Given the description of an element on the screen output the (x, y) to click on. 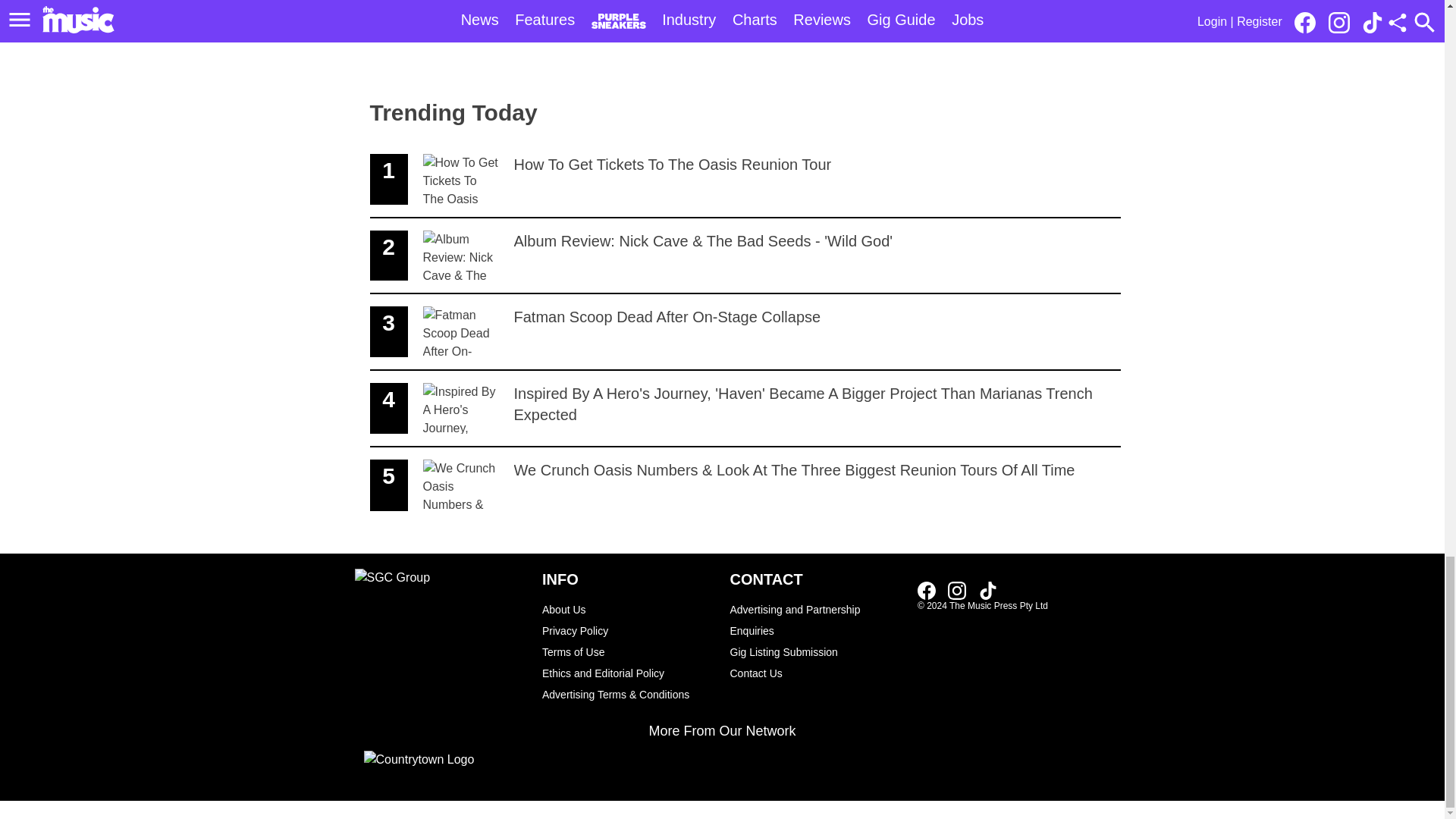
Link to our Facebook (926, 590)
Advertising and Partnership Enquiries (815, 619)
Link to our Instagram (961, 589)
Contact Us (745, 332)
About Us (815, 672)
Link to our TikTok (627, 608)
Gig Listing Submission (987, 589)
Link to our Instagram (815, 651)
Link to our Facebook (956, 590)
